Given the description of an element on the screen output the (x, y) to click on. 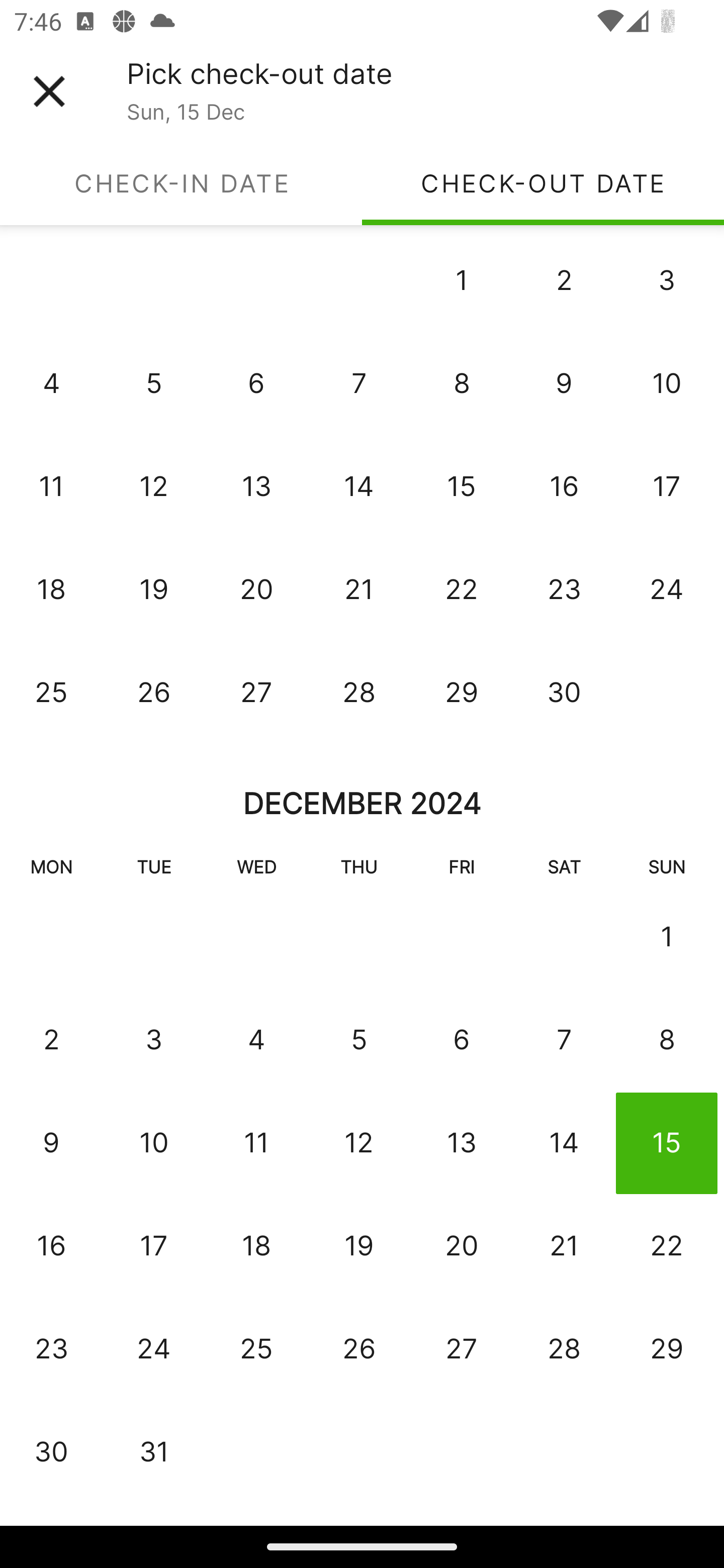
Check-in Date CHECK-IN DATE (181, 183)
